Given the description of an element on the screen output the (x, y) to click on. 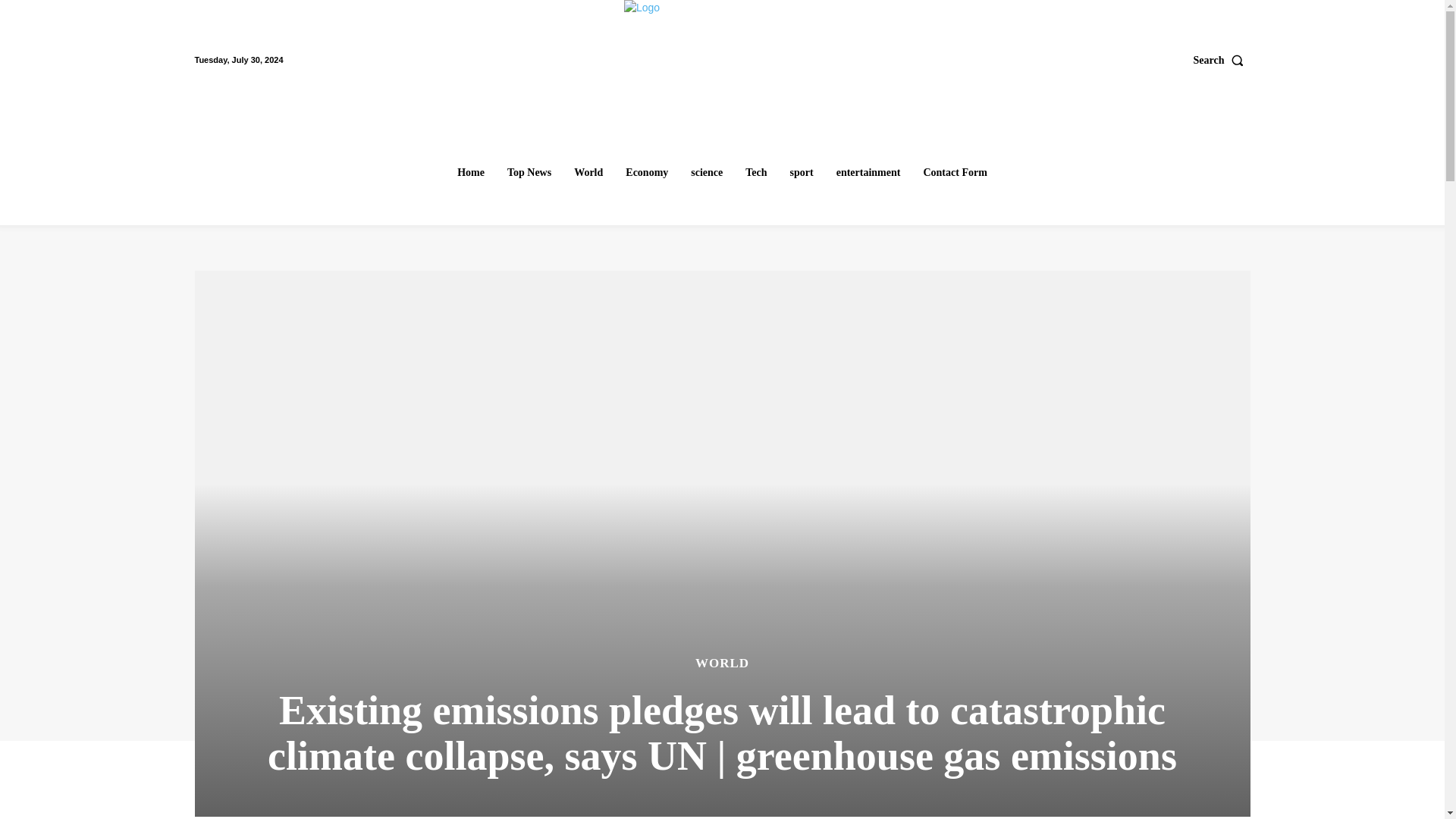
sport (802, 173)
Top News (529, 173)
Tech (756, 173)
Economy (646, 173)
Home (470, 173)
Contact Form (954, 173)
entertainment (868, 173)
science (706, 173)
World (588, 173)
Search (1221, 60)
